Given the description of an element on the screen output the (x, y) to click on. 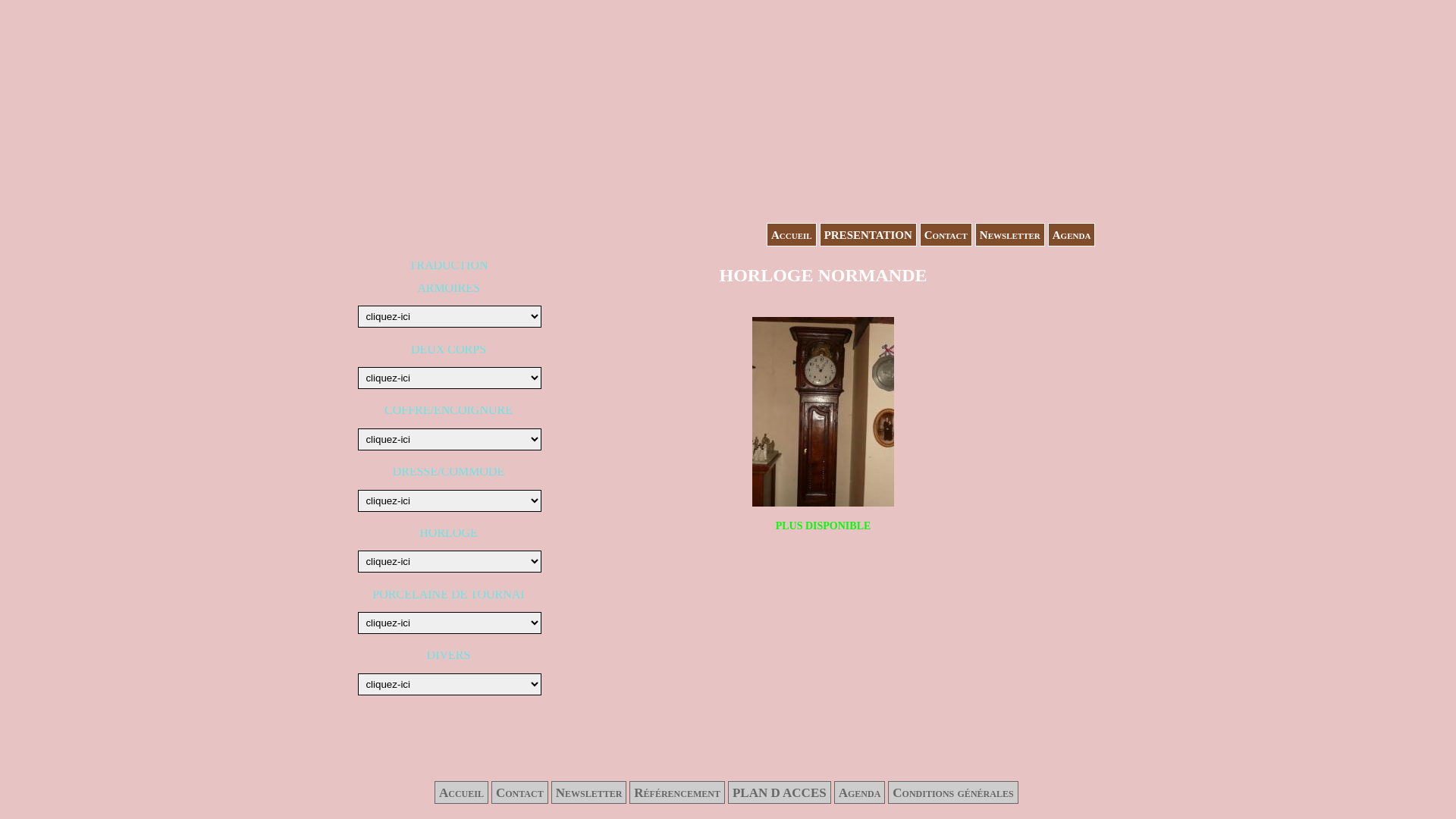
PRESENTATION Element type: text (867, 234)
HORLOGE Element type: text (447, 532)
Contact Element type: text (519, 792)
Contact Element type: text (945, 234)
PORCELAINE DE TOURNAI Element type: text (448, 593)
DIVERS Element type: text (448, 654)
Agenda Element type: text (859, 792)
COFFRE/ENCOIGNURE Element type: text (448, 409)
ARMOIRES Element type: text (448, 287)
DEUX CORPS Element type: text (448, 348)
Newsletter Element type: text (1009, 234)
DRESSE/COMMODE Element type: text (448, 470)
Newsletter Element type: text (589, 792)
PLAN D ACCES Element type: text (779, 792)
Accueil Element type: text (461, 792)
Agenda Element type: text (1071, 234)
Accueil Element type: text (791, 234)
TRADUCTION Element type: text (448, 264)
